Given the description of an element on the screen output the (x, y) to click on. 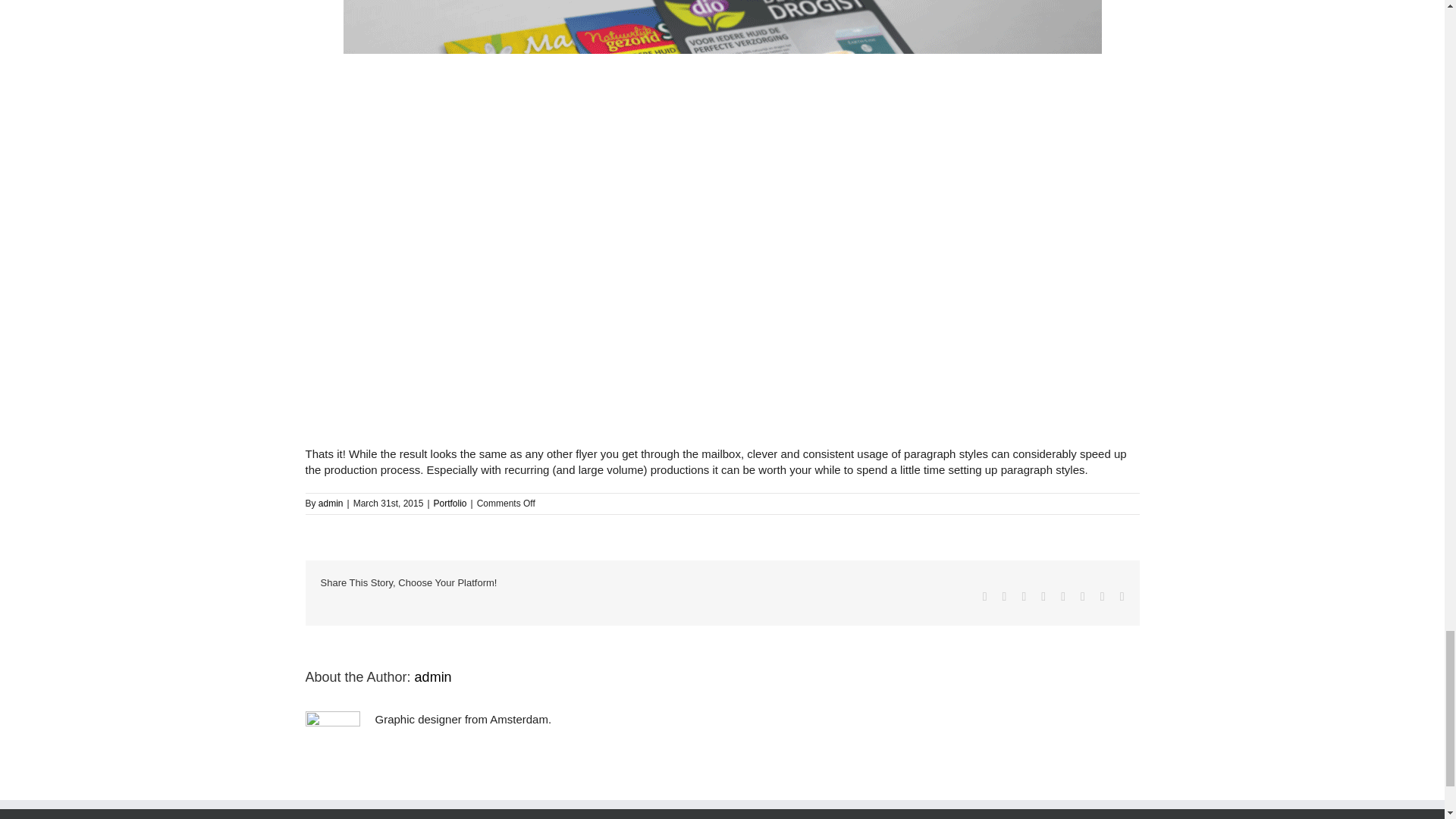
Posts by admin (330, 502)
admin (432, 676)
Posts by admin (432, 676)
admin (330, 502)
Portfolio (450, 502)
